Given the description of an element on the screen output the (x, y) to click on. 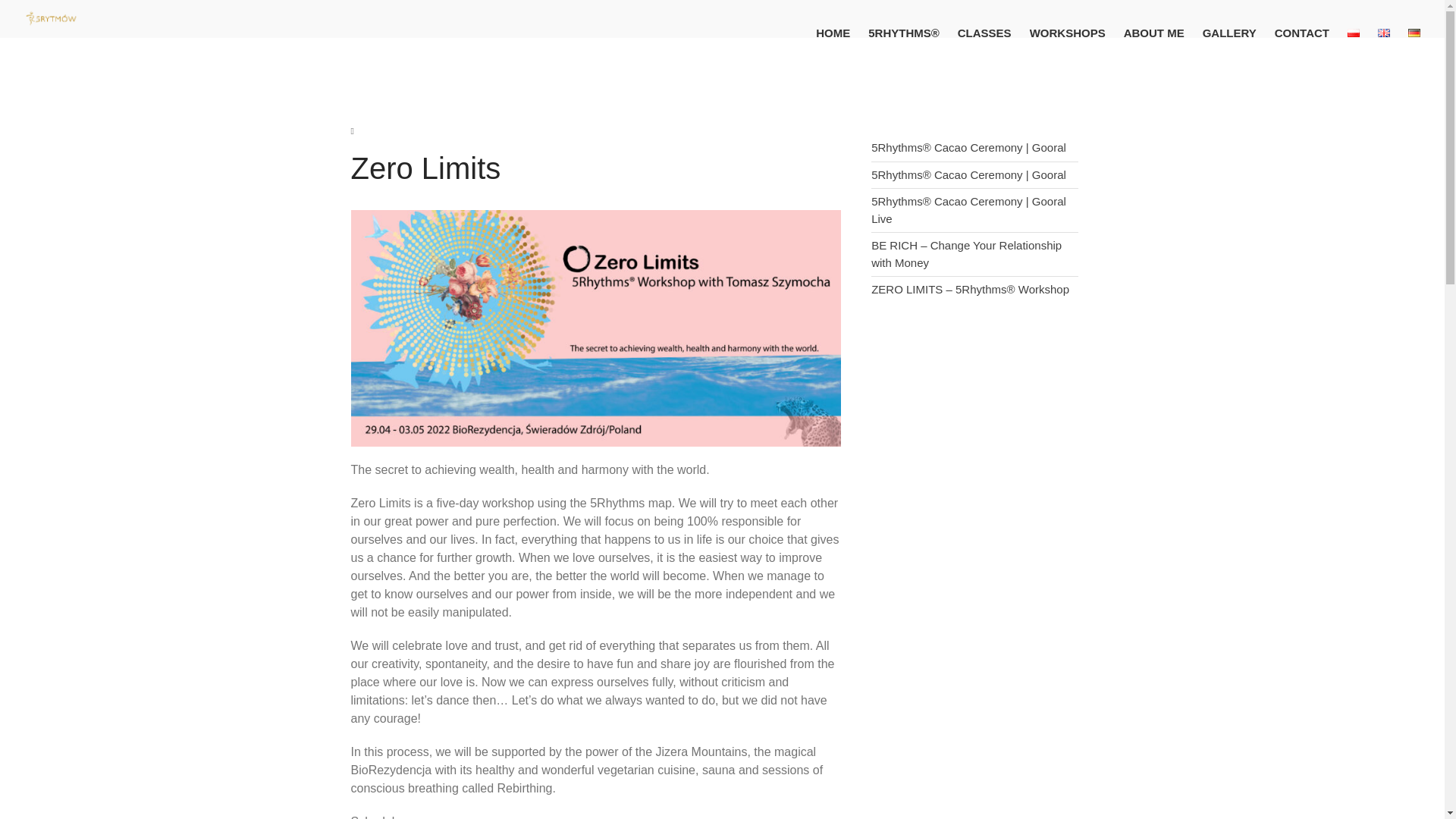
CLASSES (984, 33)
CONTACT (1301, 33)
WORKSHOPS (1067, 33)
GALLERY (1229, 33)
HOME (832, 33)
ABOUT ME (1154, 33)
